Given the description of an element on the screen output the (x, y) to click on. 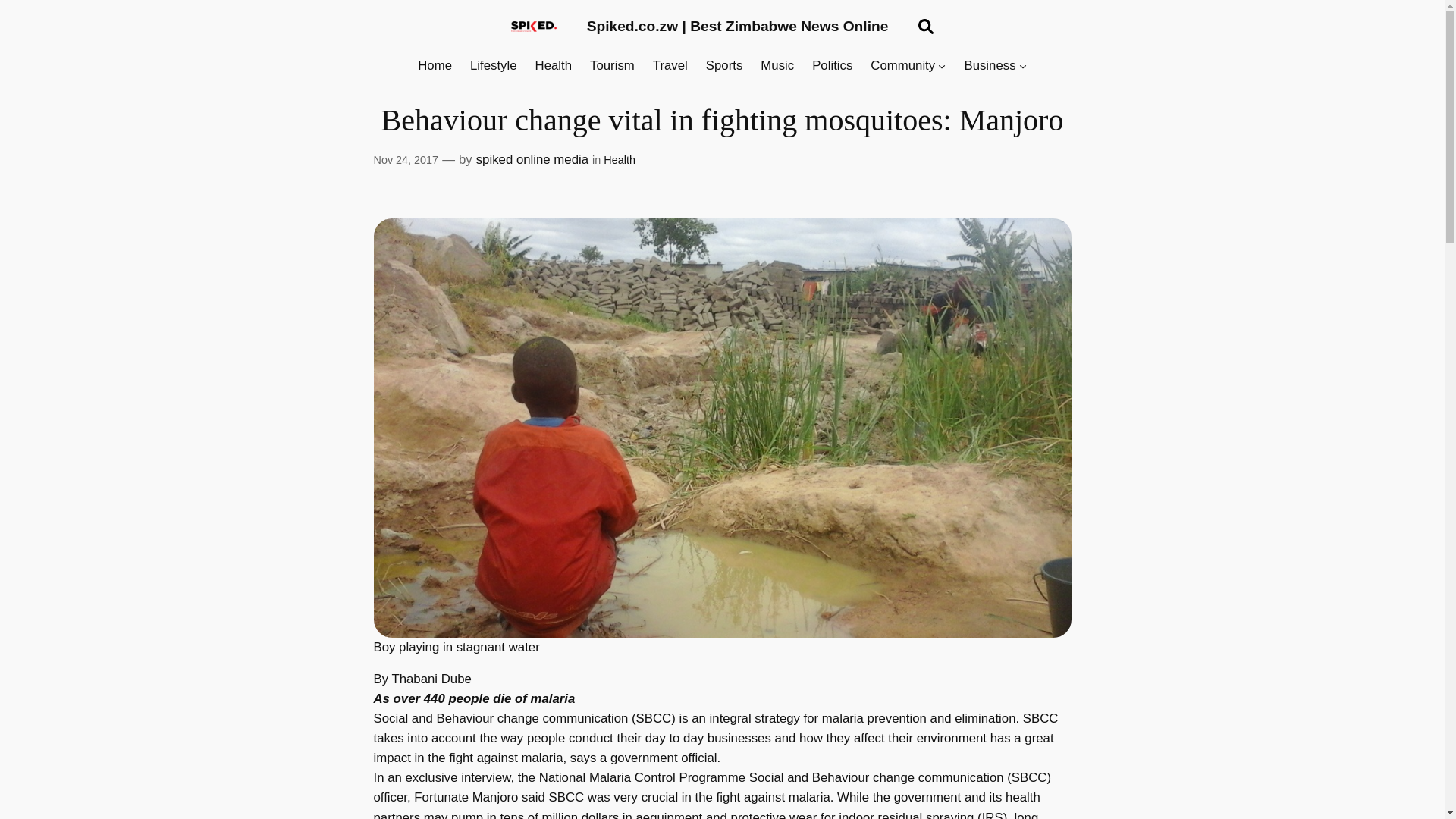
Politics (831, 66)
Health (553, 66)
Health (619, 159)
Lifestyle (493, 66)
Nov 24, 2017 (405, 159)
Sports (724, 66)
Community (902, 66)
Music (776, 66)
Travel (669, 66)
Home (434, 66)
Business (988, 66)
Tourism (611, 66)
